Given the description of an element on the screen output the (x, y) to click on. 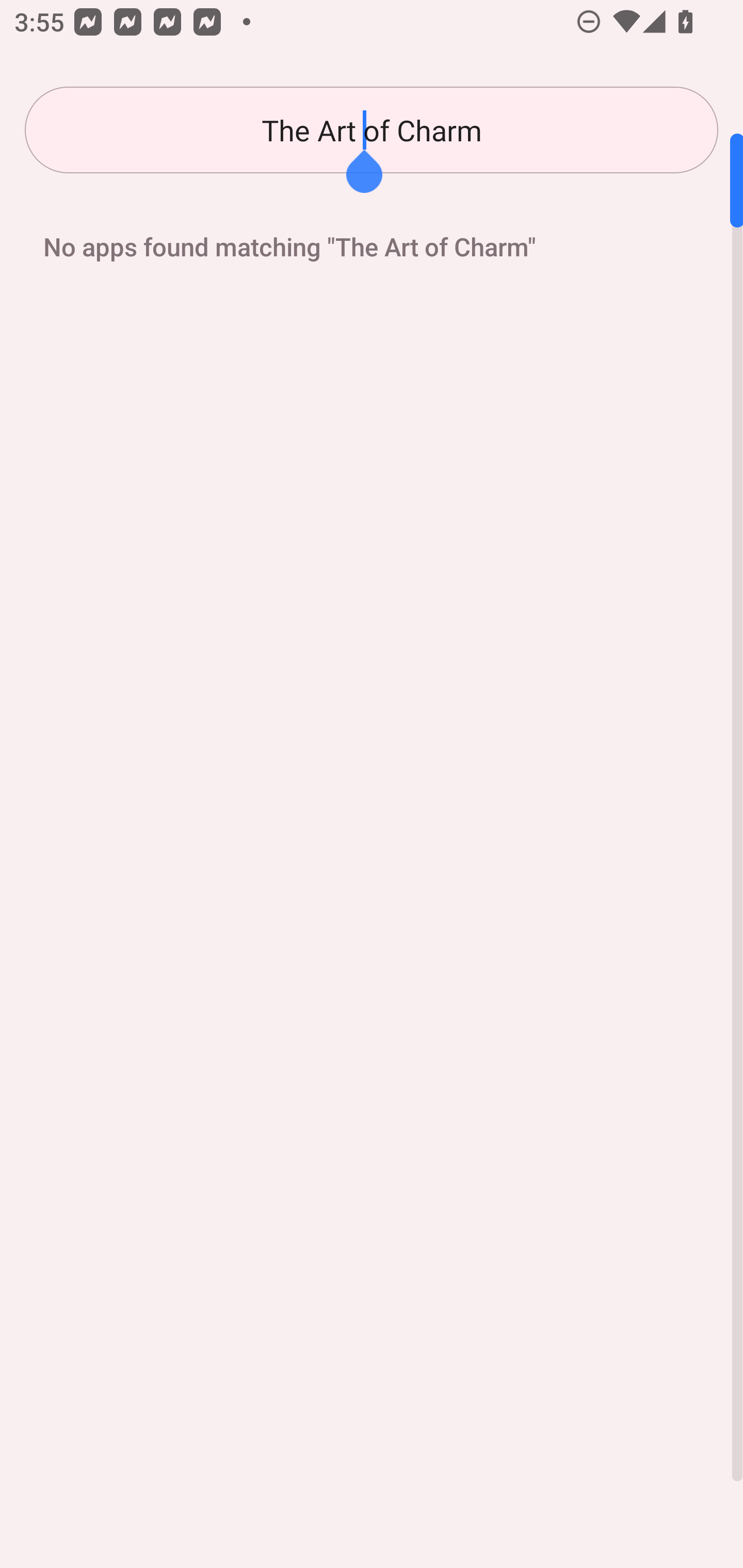
The Art of Charm (371, 130)
